Given the description of an element on the screen output the (x, y) to click on. 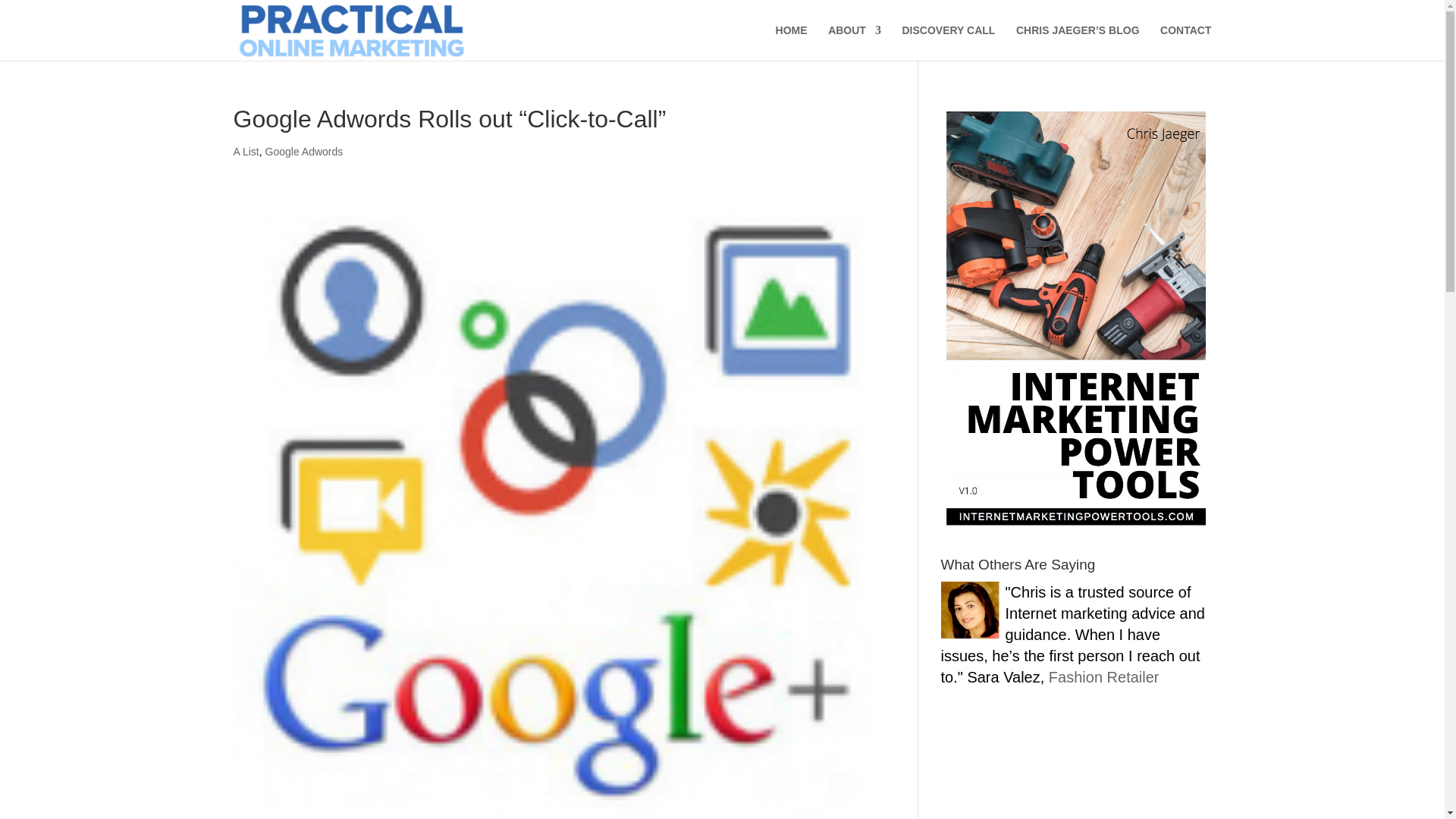
Google Adwords (303, 151)
ABOUT (854, 42)
DISCOVERY CALL (947, 42)
A List (245, 151)
CONTACT (1185, 42)
HOME (792, 42)
